Given the description of an element on the screen output the (x, y) to click on. 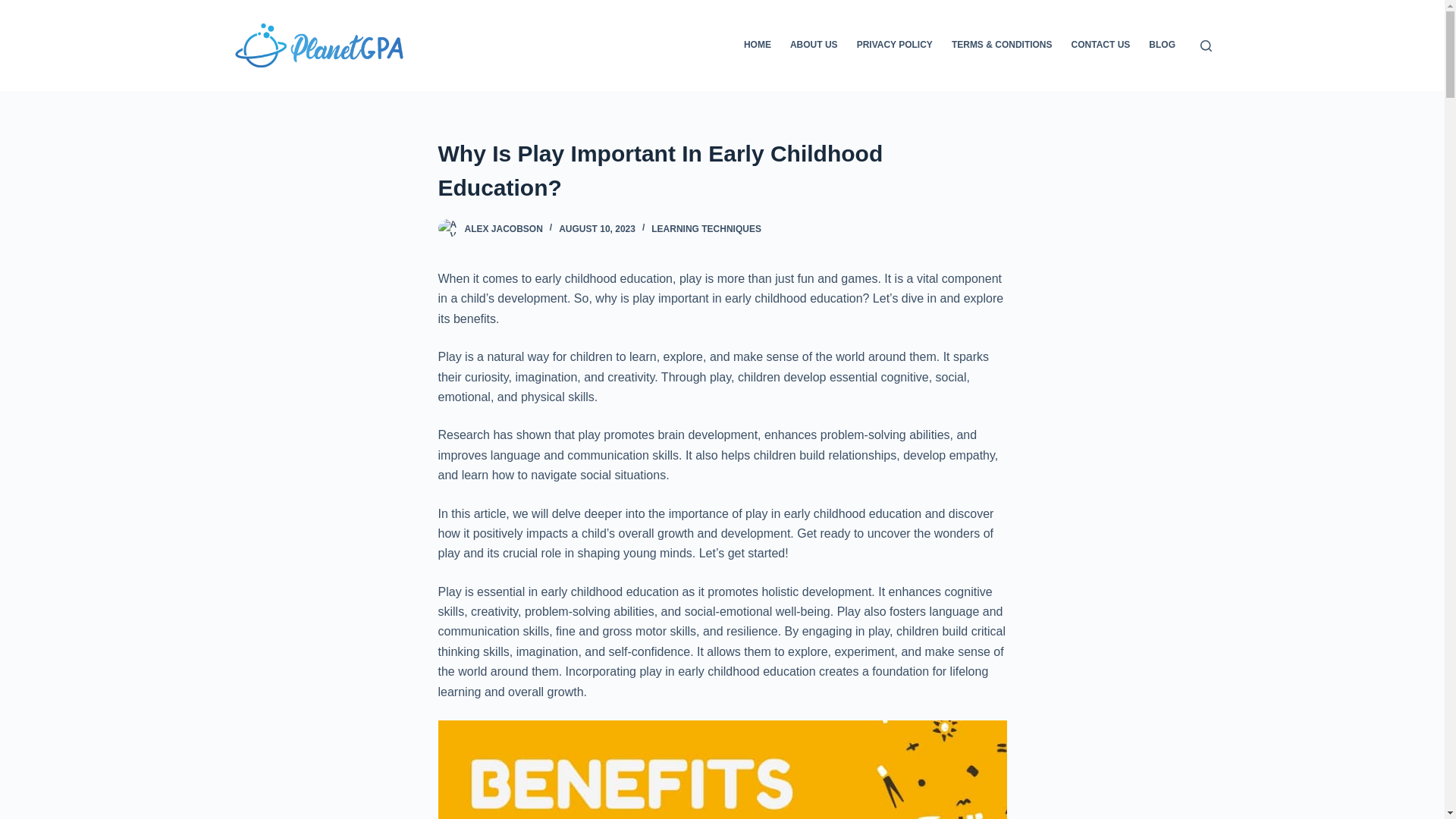
Skip to content (15, 7)
Why Is Play Important In Early Childhood Education? (722, 170)
Posts by Alex Jacobson (502, 228)
ALEX JACOBSON (502, 228)
LEARNING TECHNIQUES (705, 228)
PRIVACY POLICY (894, 45)
